Given the description of an element on the screen output the (x, y) to click on. 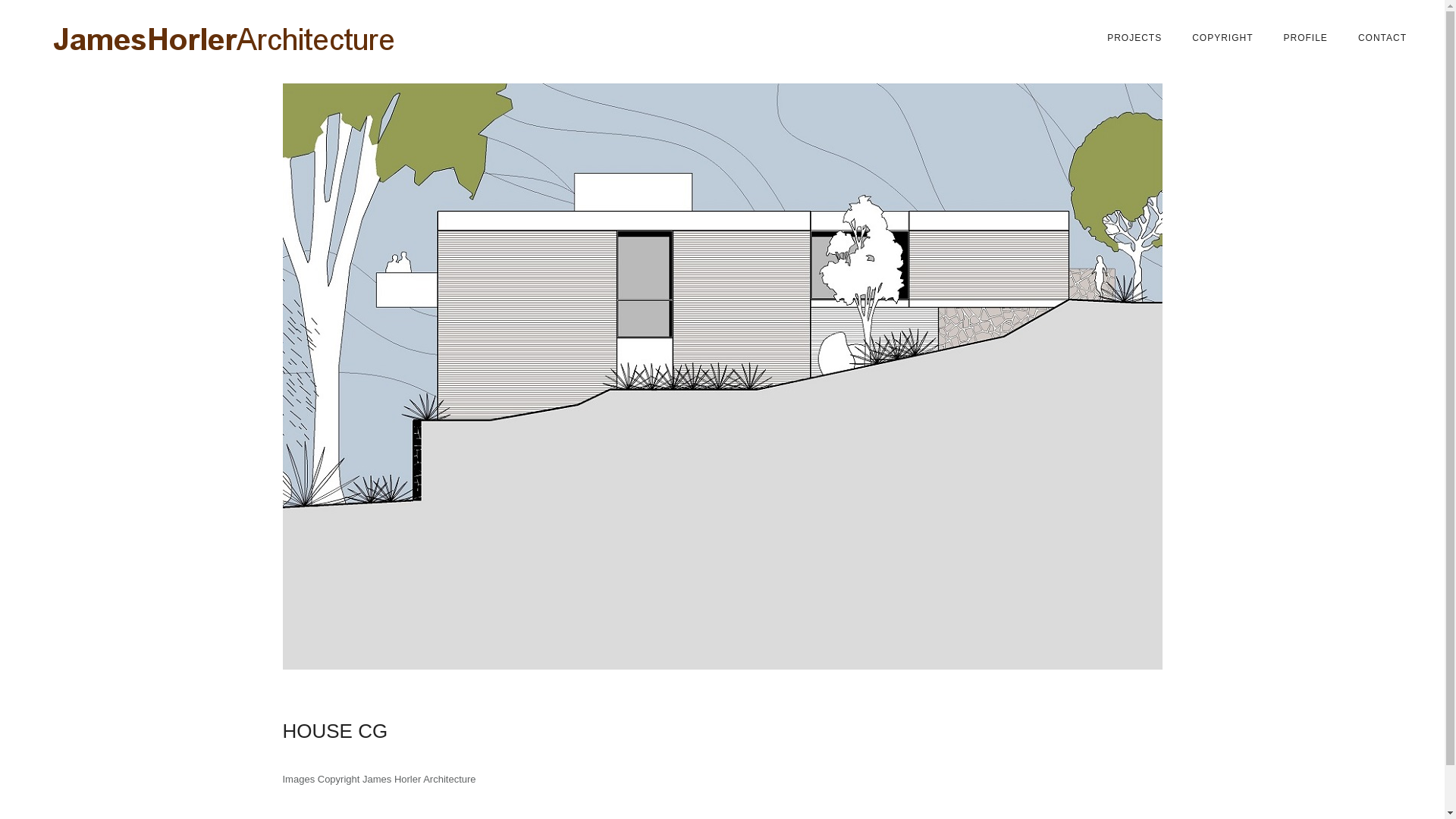
CONTACT Element type: text (1382, 37)
COPYRIGHT Element type: text (1221, 37)
PROFILE Element type: text (1305, 37)
PROJECTS Element type: text (1134, 37)
200807-4 Element type: hover (721, 376)
